Given the description of an element on the screen output the (x, y) to click on. 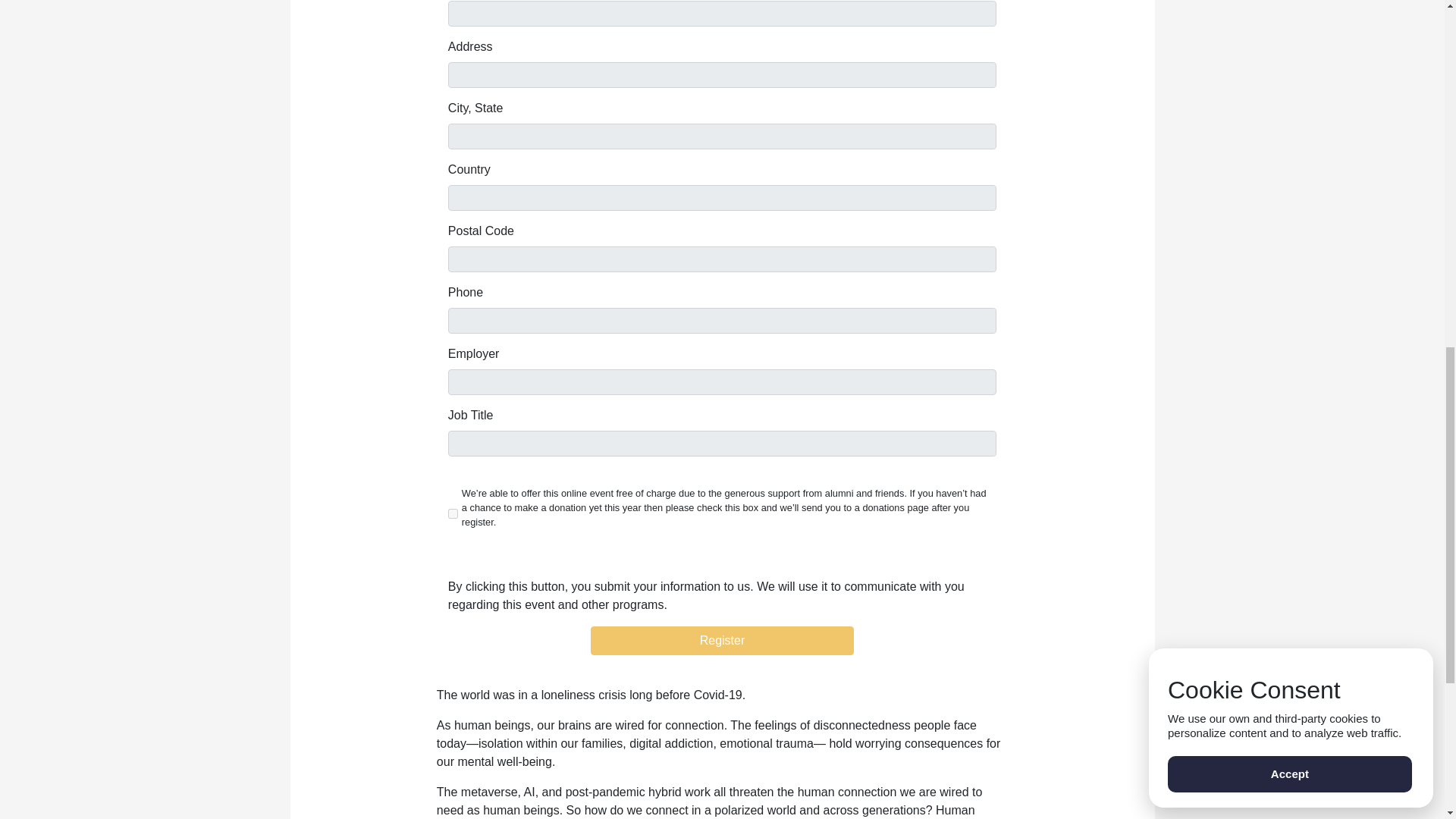
1 (453, 513)
Register (722, 640)
Register (722, 640)
